Given the description of an element on the screen output the (x, y) to click on. 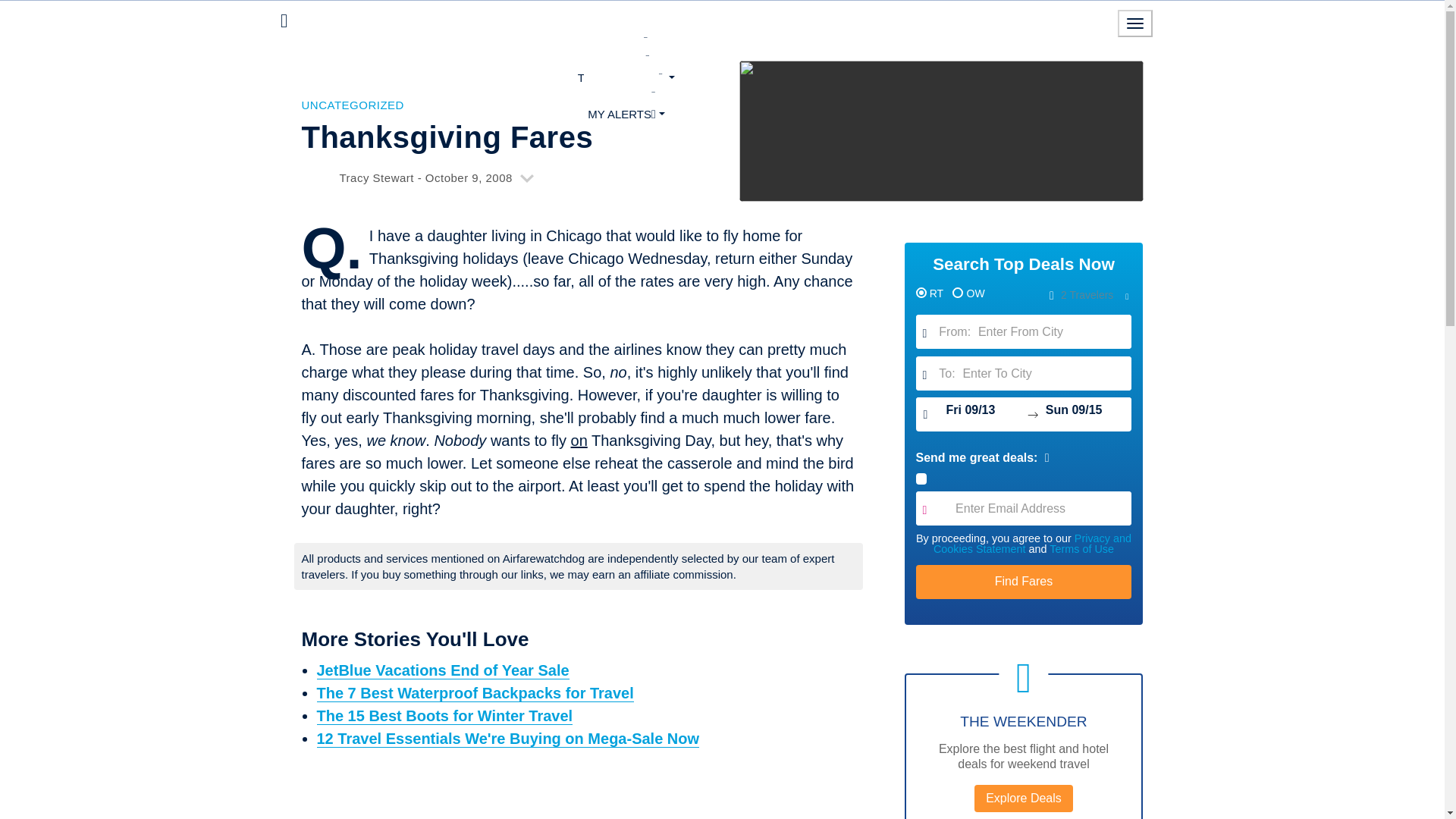
FLIGHTS (625, 40)
TRAVEL BLOG (626, 77)
AIRLINES (625, 58)
Toggle navigation (1135, 22)
